Given the description of an element on the screen output the (x, y) to click on. 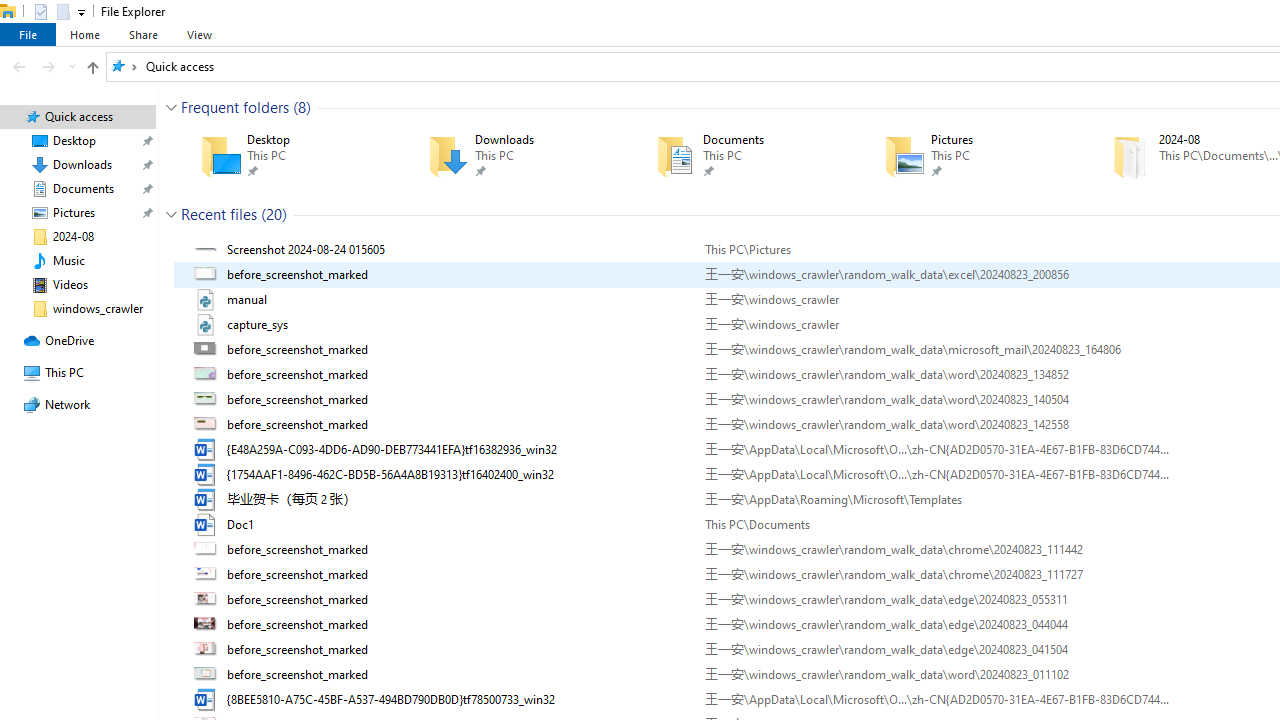
Pictures (969, 156)
Quick access (179, 65)
Pinned (1003, 170)
Path (936, 699)
Quick Access Toolbar (51, 11)
Downloads (513, 156)
System (10, 11)
Share (143, 34)
Navigation buttons (41, 66)
System (10, 11)
Name (458, 699)
